Given the description of an element on the screen output the (x, y) to click on. 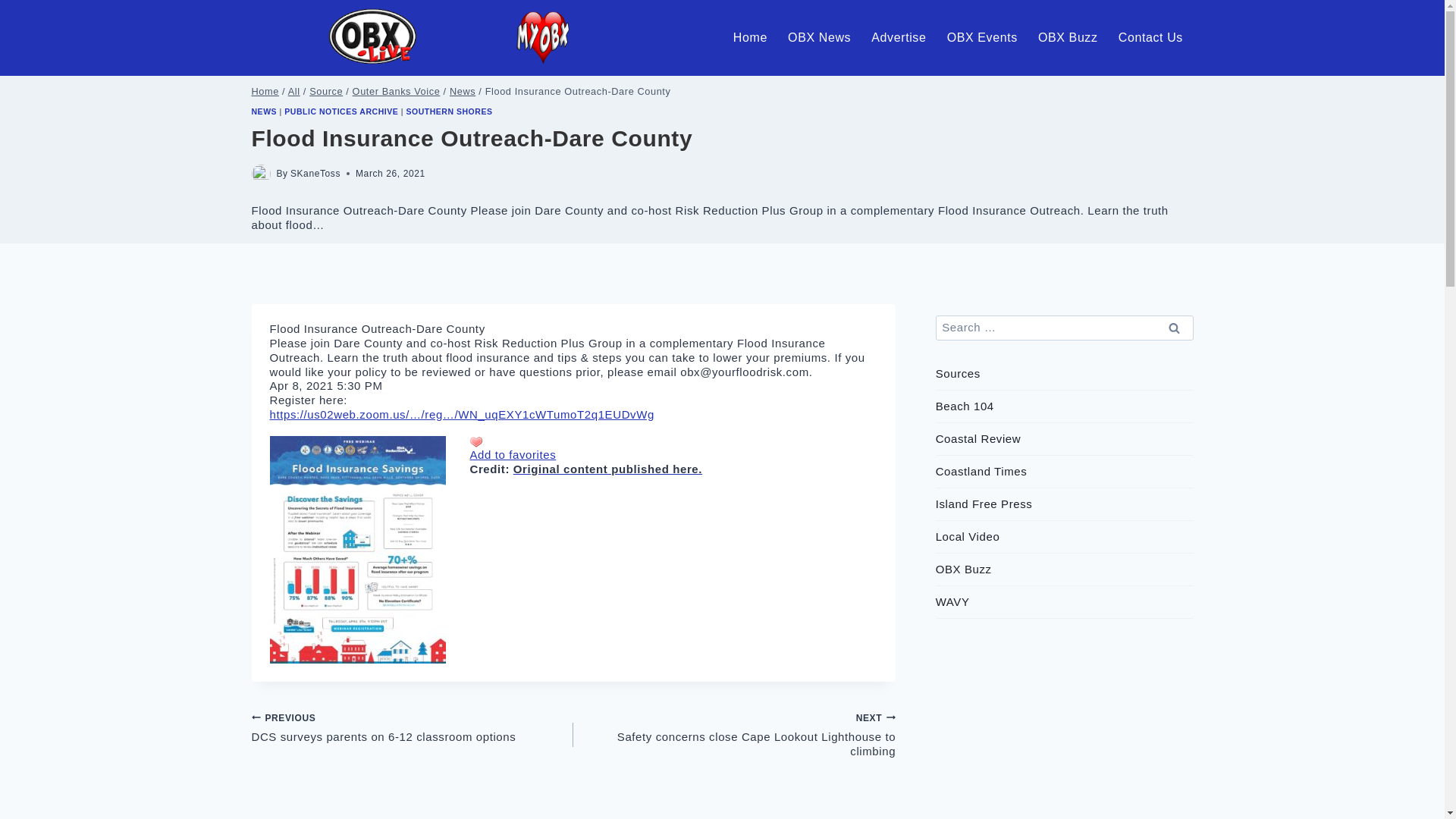
News (462, 91)
SKaneToss (314, 173)
Original content published here. (607, 468)
Home (265, 91)
Home (749, 37)
NEWS (264, 111)
OBX Events (981, 37)
Favorite (475, 441)
Source (325, 91)
Add to favorites (513, 454)
Advertise (898, 37)
All (412, 727)
SOUTHERN SHORES (293, 91)
